Given the description of an element on the screen output the (x, y) to click on. 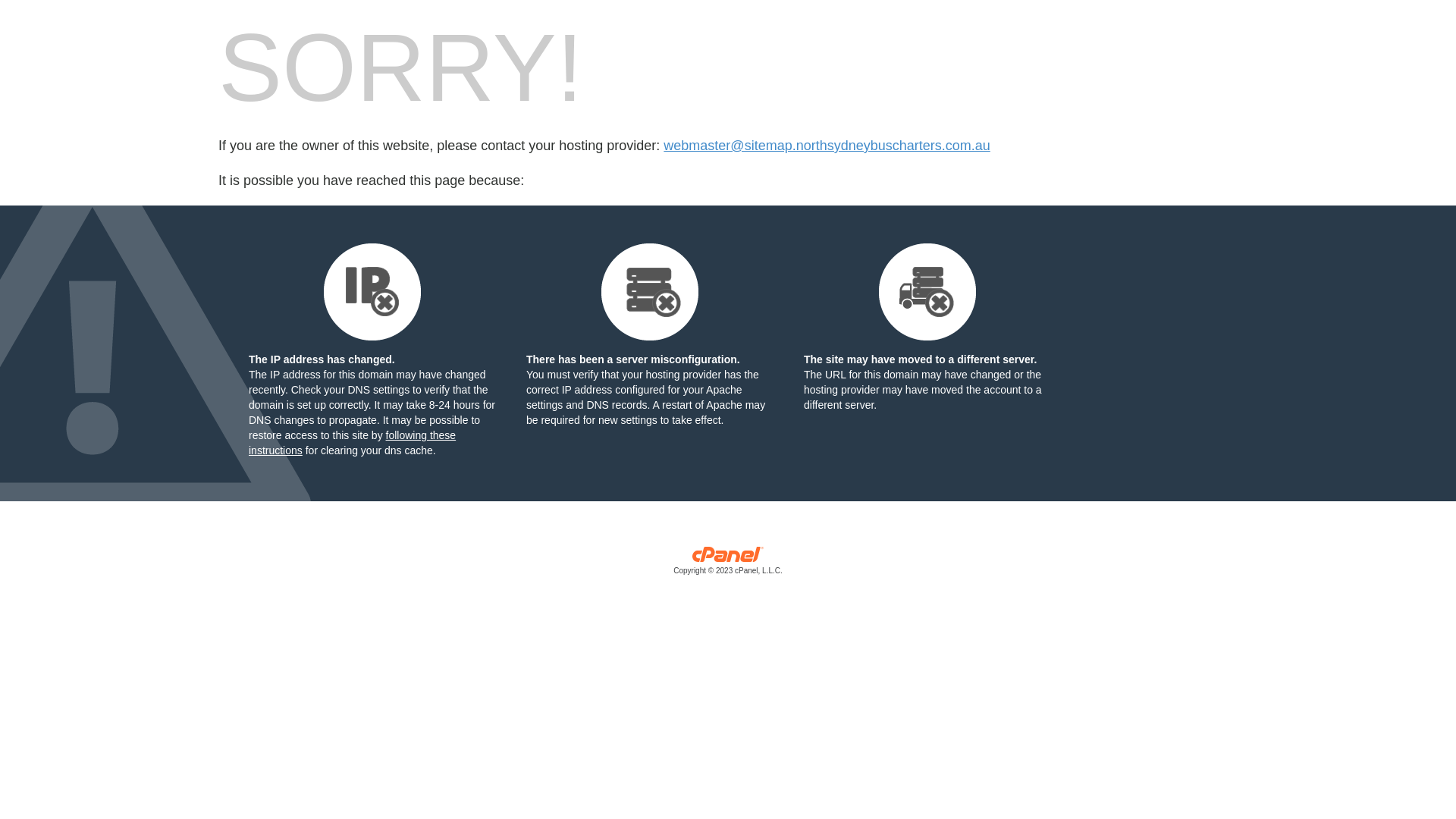
webmaster@sitemap.northsydneybuscharters.com.au Element type: text (826, 145)
following these instructions Element type: text (351, 356)
